Given the description of an element on the screen output the (x, y) to click on. 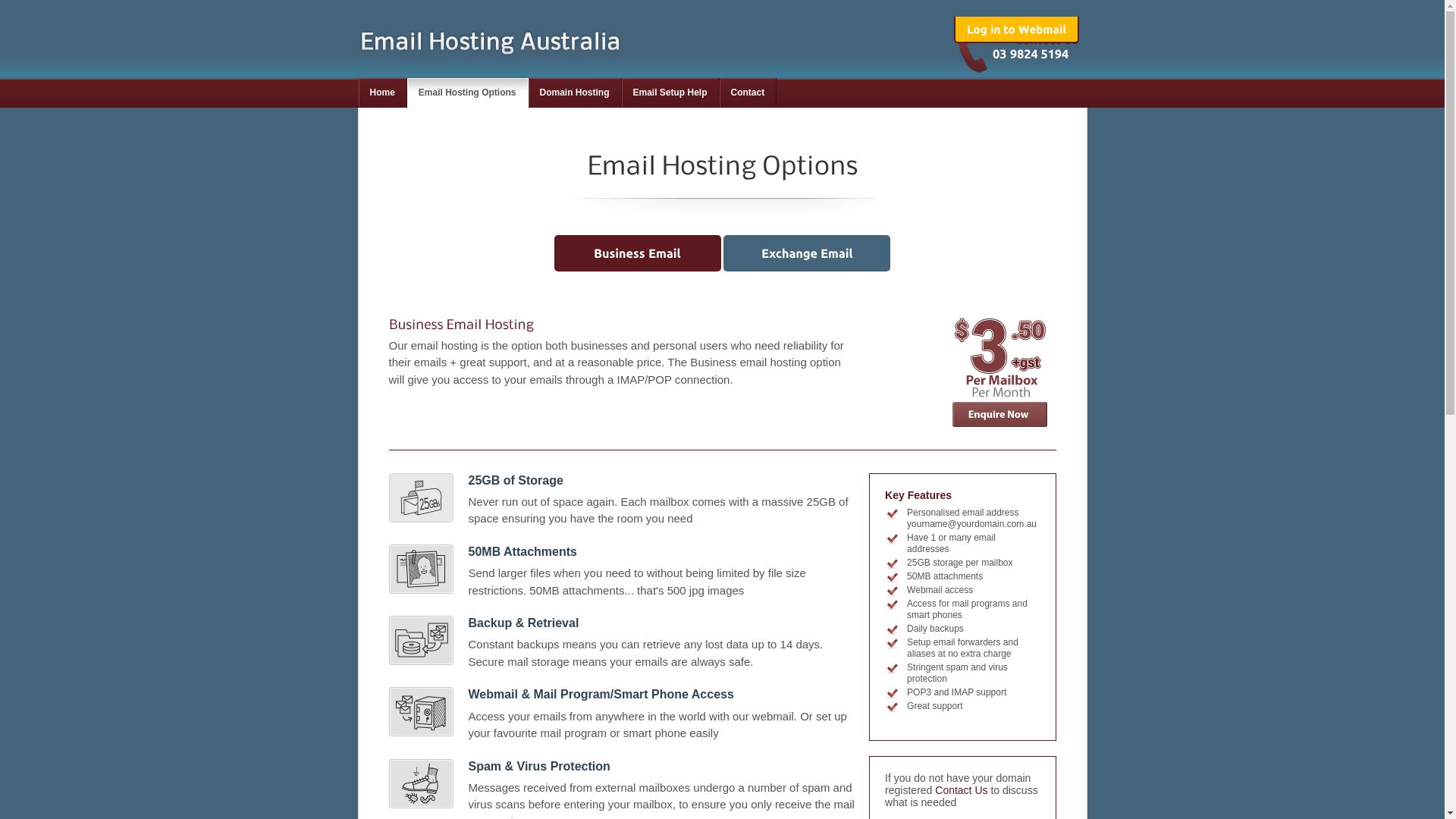
Home Element type: text (381, 92)
Email Hosting Options Element type: text (467, 92)
Email Hosting Australia Element type: text (489, 42)
Email Setup Help Element type: text (670, 92)
Domain Hosting Element type: text (574, 92)
Contact Element type: text (748, 92)
Contact Us Element type: text (961, 790)
Enquire Now Element type: text (1003, 413)
